Given the description of an element on the screen output the (x, y) to click on. 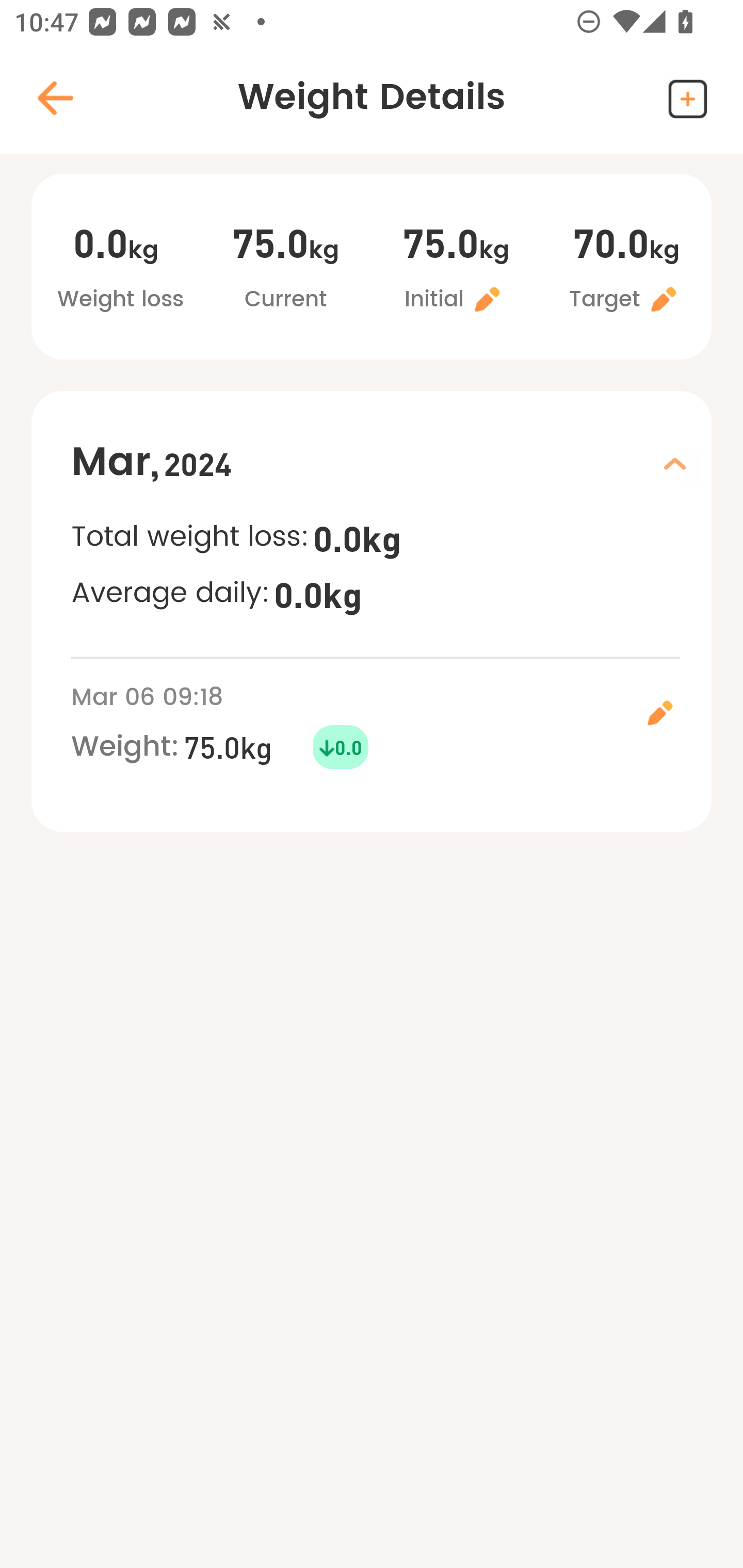
75.0kg Initial (455, 268)
70.0kg Target (625, 268)
Mar 06 09:18 Weight: 75.0kg 0.0 (391, 723)
